Given the description of an element on the screen output the (x, y) to click on. 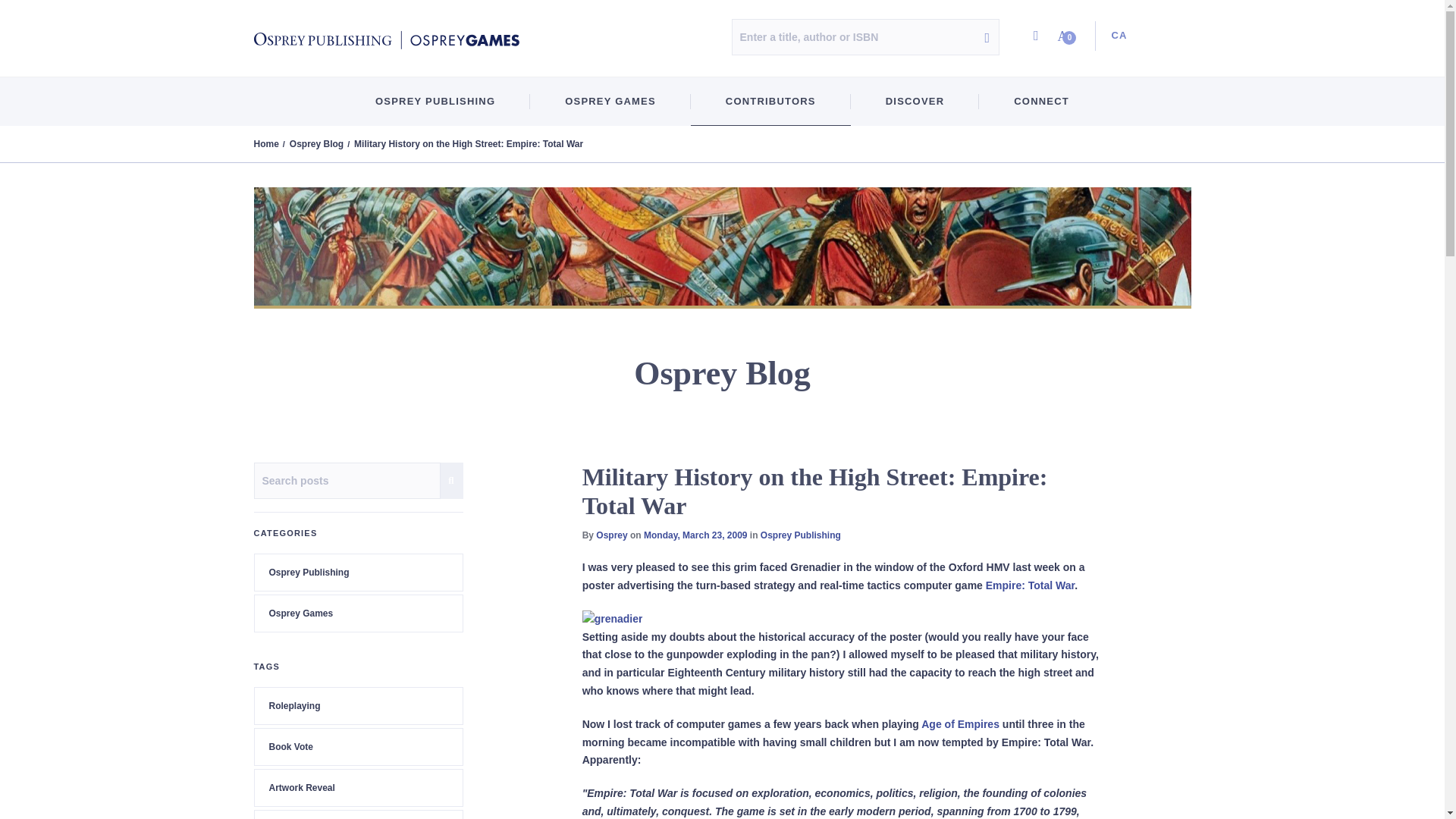
CONNECT (1040, 101)
OSPREY GAMES (609, 101)
DISCOVER (914, 101)
0 (1066, 35)
CONTRIBUTORS (770, 101)
CA (1114, 35)
OSPREY PUBLISHING (434, 101)
